Given the description of an element on the screen output the (x, y) to click on. 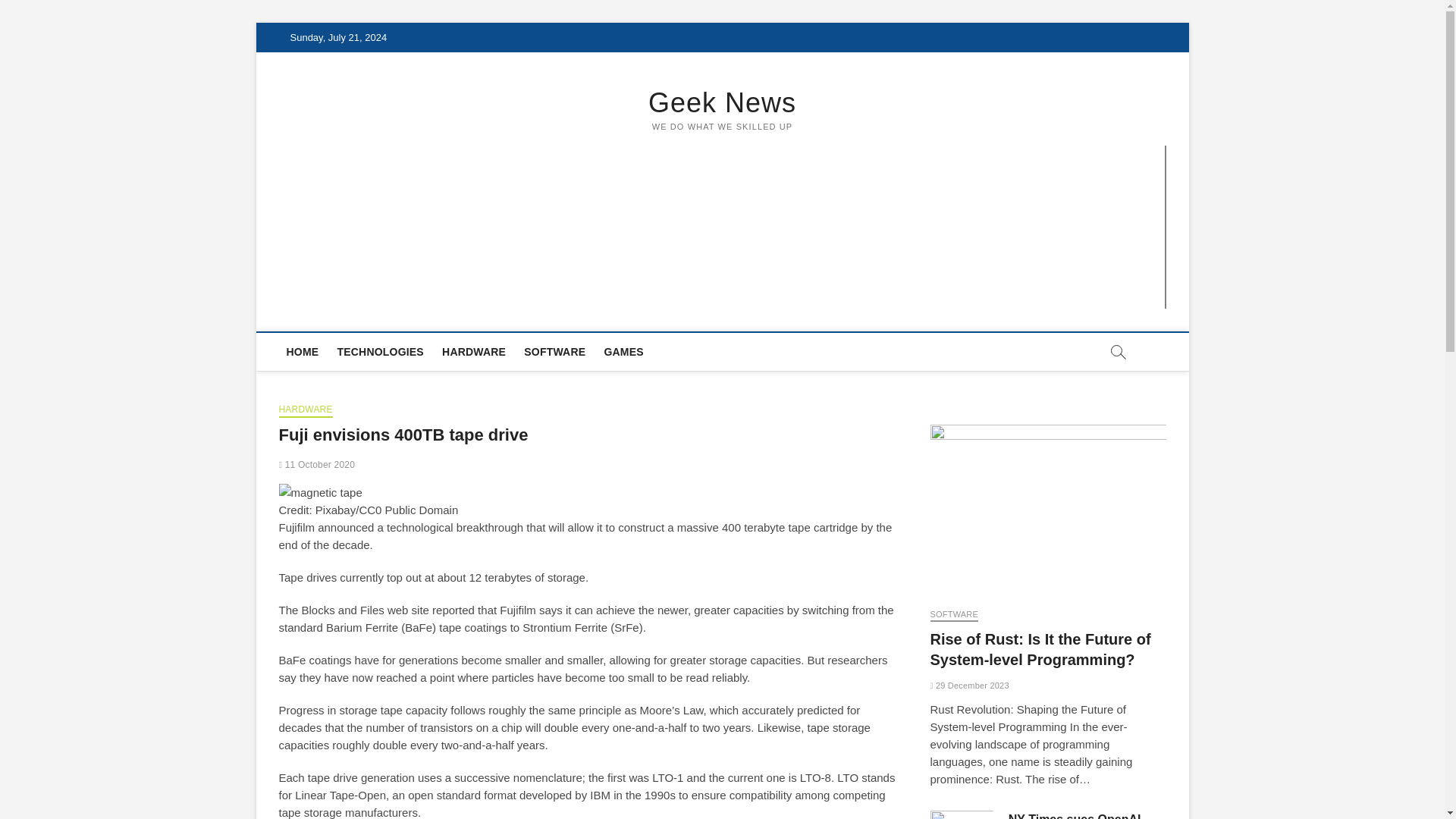
Geek News (722, 102)
Geek News (722, 102)
HOME (302, 351)
SOFTWARE (554, 351)
29 December 2023 (969, 685)
HARDWARE (473, 351)
Rise of Rust: Is It the Future of System-level Programming? (1048, 508)
Rise of Rust: Is It the Future of System-level Programming? (1040, 649)
11 October 2020 (317, 464)
GAMES (622, 351)
2:52 pm (317, 464)
TECHNOLOGIES (379, 351)
